Given the description of an element on the screen output the (x, y) to click on. 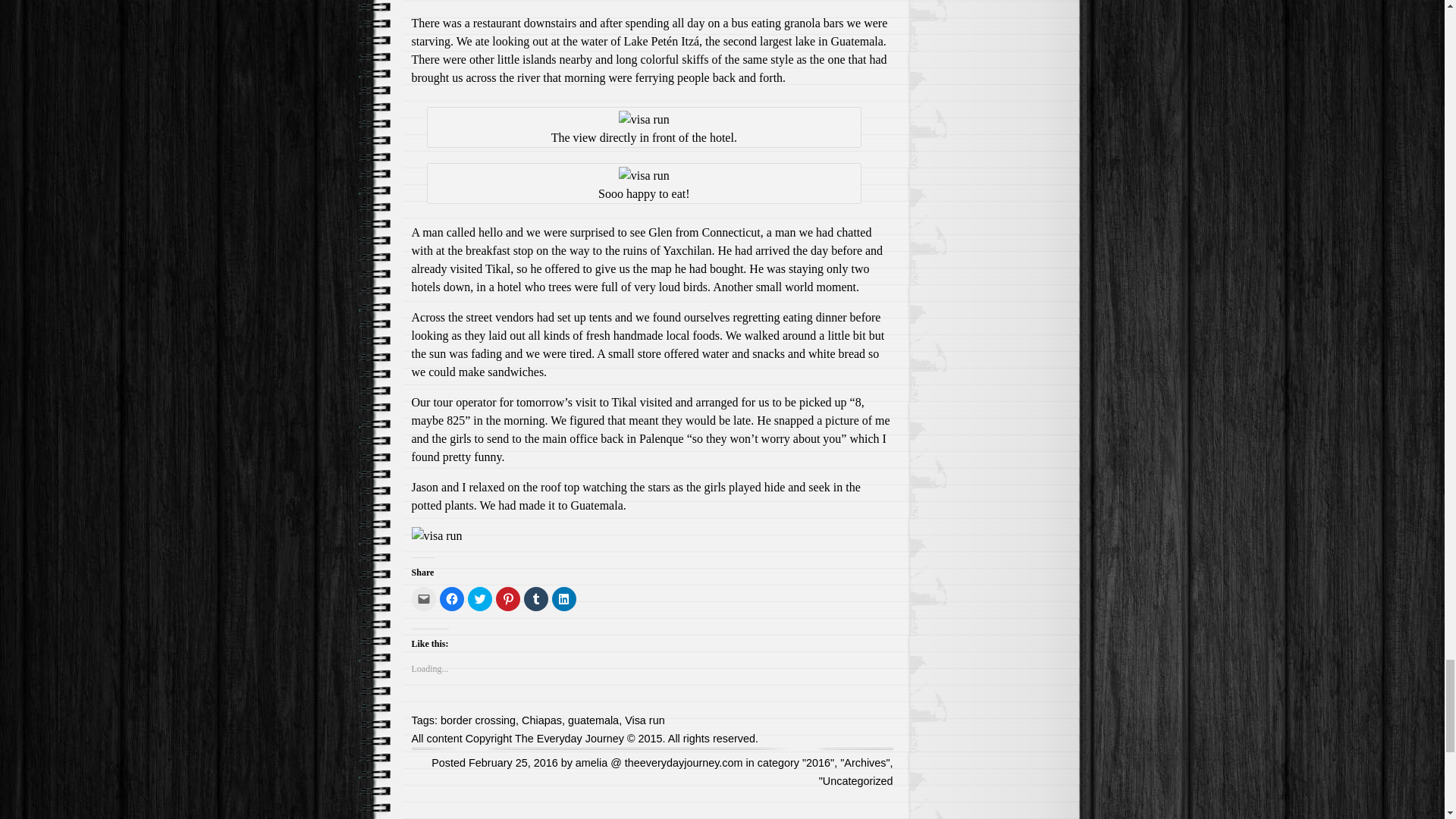
Click to share on Pinterest (507, 598)
border crossing (478, 720)
2016 (817, 762)
Click to share on Facebook (451, 598)
Chiapas (541, 720)
Visa run (644, 720)
Uncategorized (857, 780)
Click to share on LinkedIn (563, 598)
Click to share on Twitter (479, 598)
guatemala (592, 720)
Click to share on Tumblr (534, 598)
Archives (864, 762)
Click to email a link to a friend (422, 598)
